Given the description of an element on the screen output the (x, y) to click on. 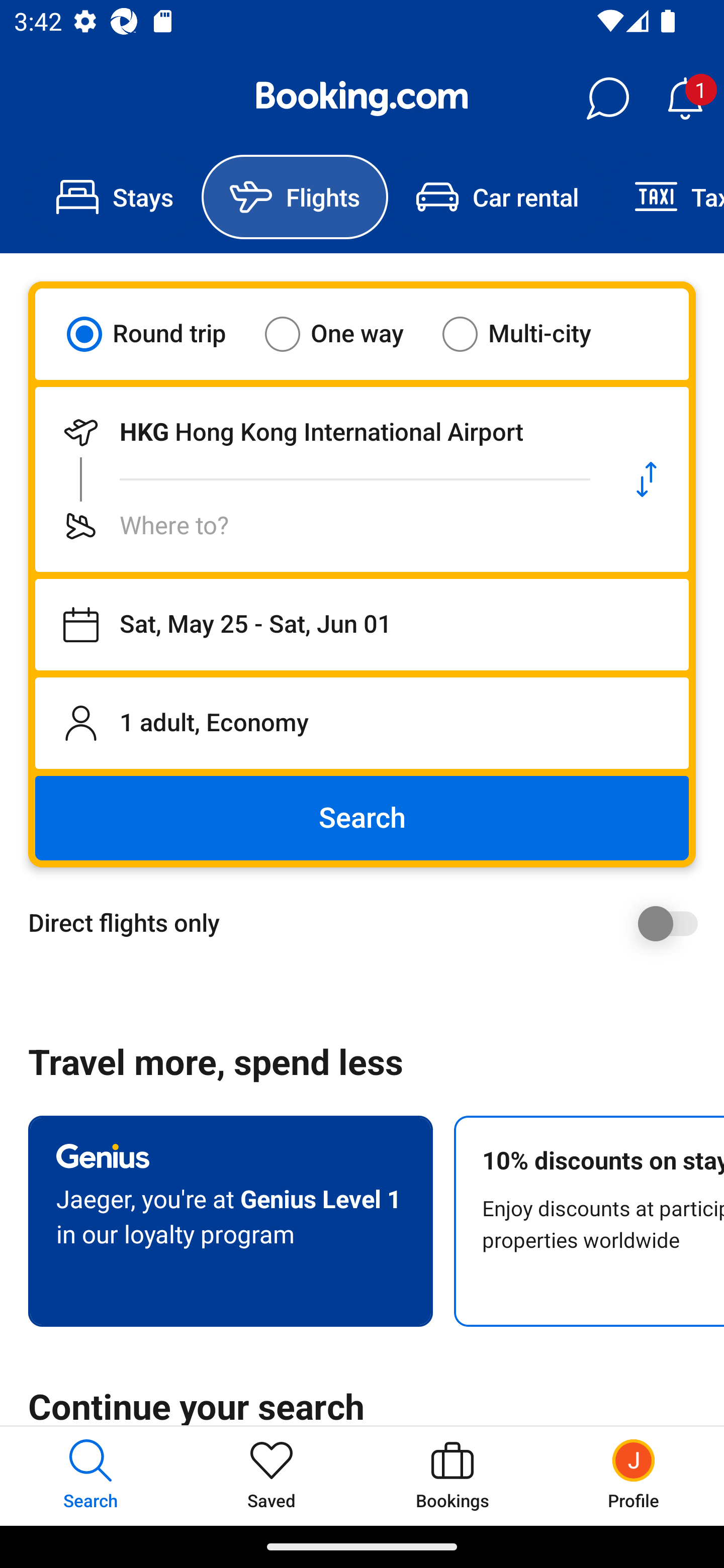
Messages (607, 98)
Notifications (685, 98)
Stays (114, 197)
Flights (294, 197)
Car rental (497, 197)
Taxi (665, 197)
One way (346, 333)
Multi-city (528, 333)
Departing from HKG Hong Kong International Airport (319, 432)
Swap departure location and destination (646, 479)
Flying to  (319, 525)
Departing on Sat, May 25, returning on Sat, Jun 01 (361, 624)
1 adult, Economy (361, 722)
Search (361, 818)
Direct flights only (369, 923)
Saved (271, 1475)
Bookings (452, 1475)
Profile (633, 1475)
